Given the description of an element on the screen output the (x, y) to click on. 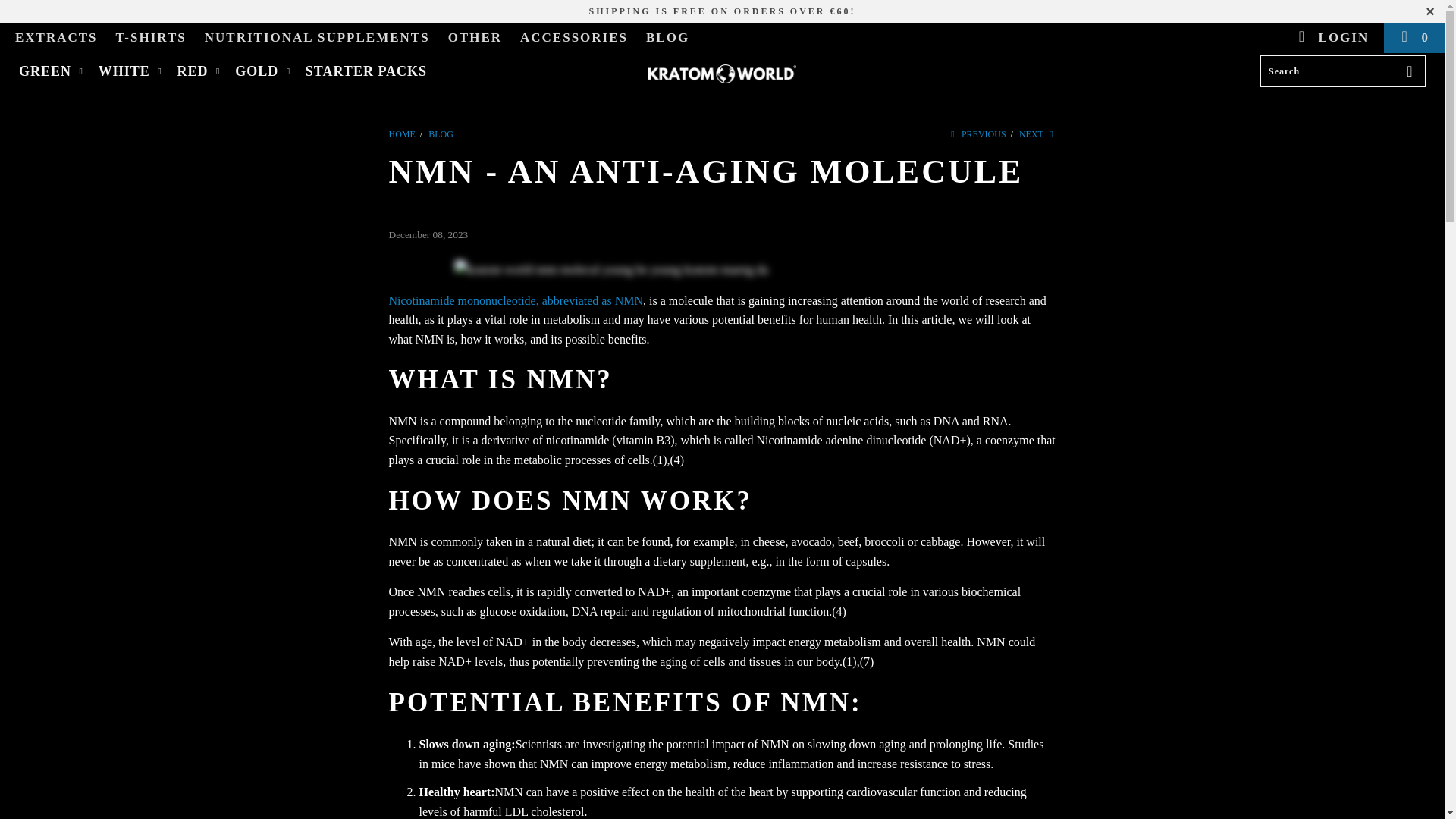
Kratom World (722, 74)
Kratom World (401, 133)
Blog (440, 133)
My Account  (1332, 37)
kratom world nmn (515, 300)
